Given the description of an element on the screen output the (x, y) to click on. 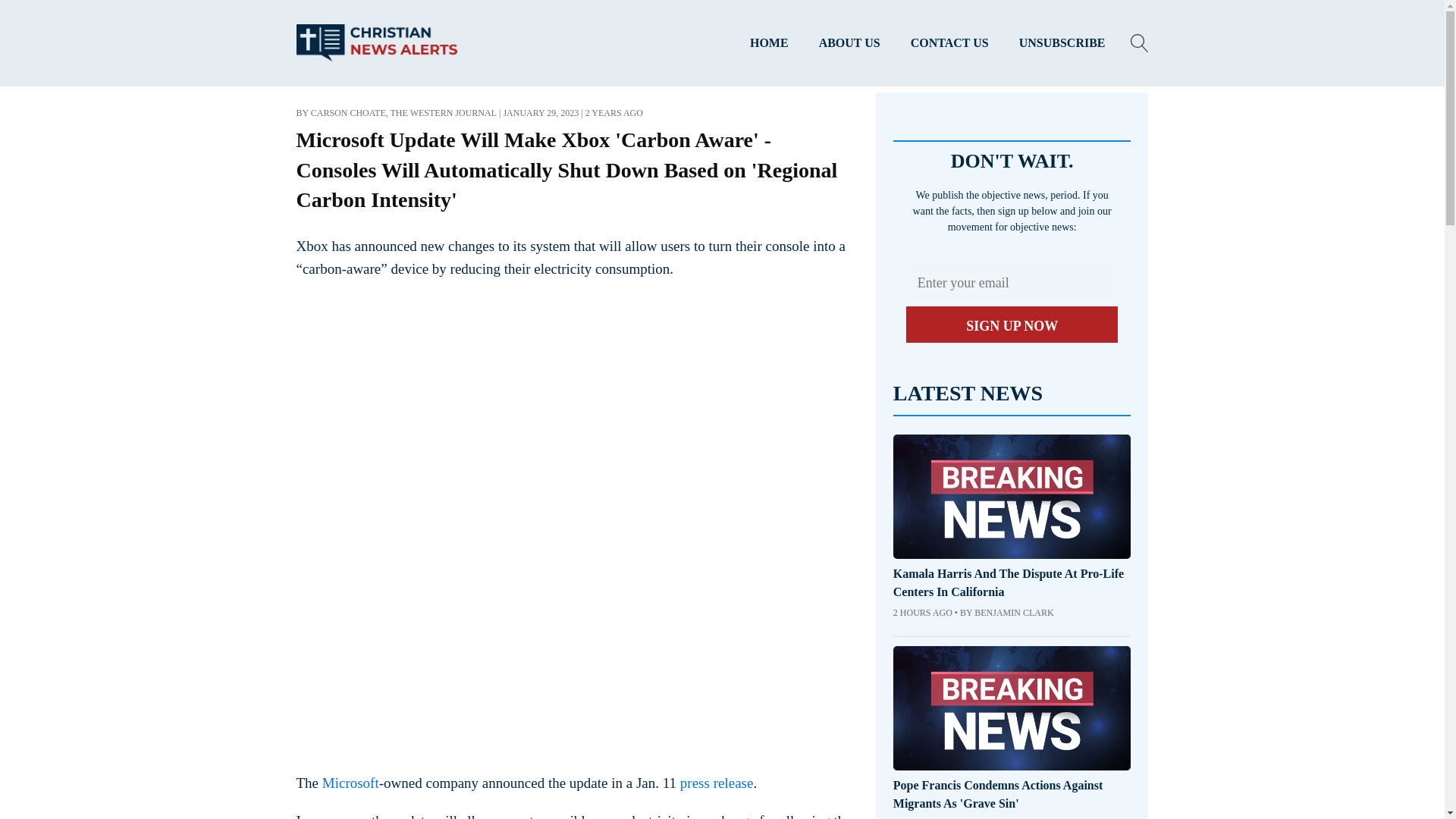
ABOUT US (849, 43)
CARSON CHOATE, THE WESTERN JOURNAL (403, 112)
press release (716, 782)
Microsoft (349, 782)
CONTACT US (949, 43)
SIGN UP NOW (1011, 324)
SIGN UP NOW (1011, 324)
UNSUBSCRIBE (1062, 43)
